Given the description of an element on the screen output the (x, y) to click on. 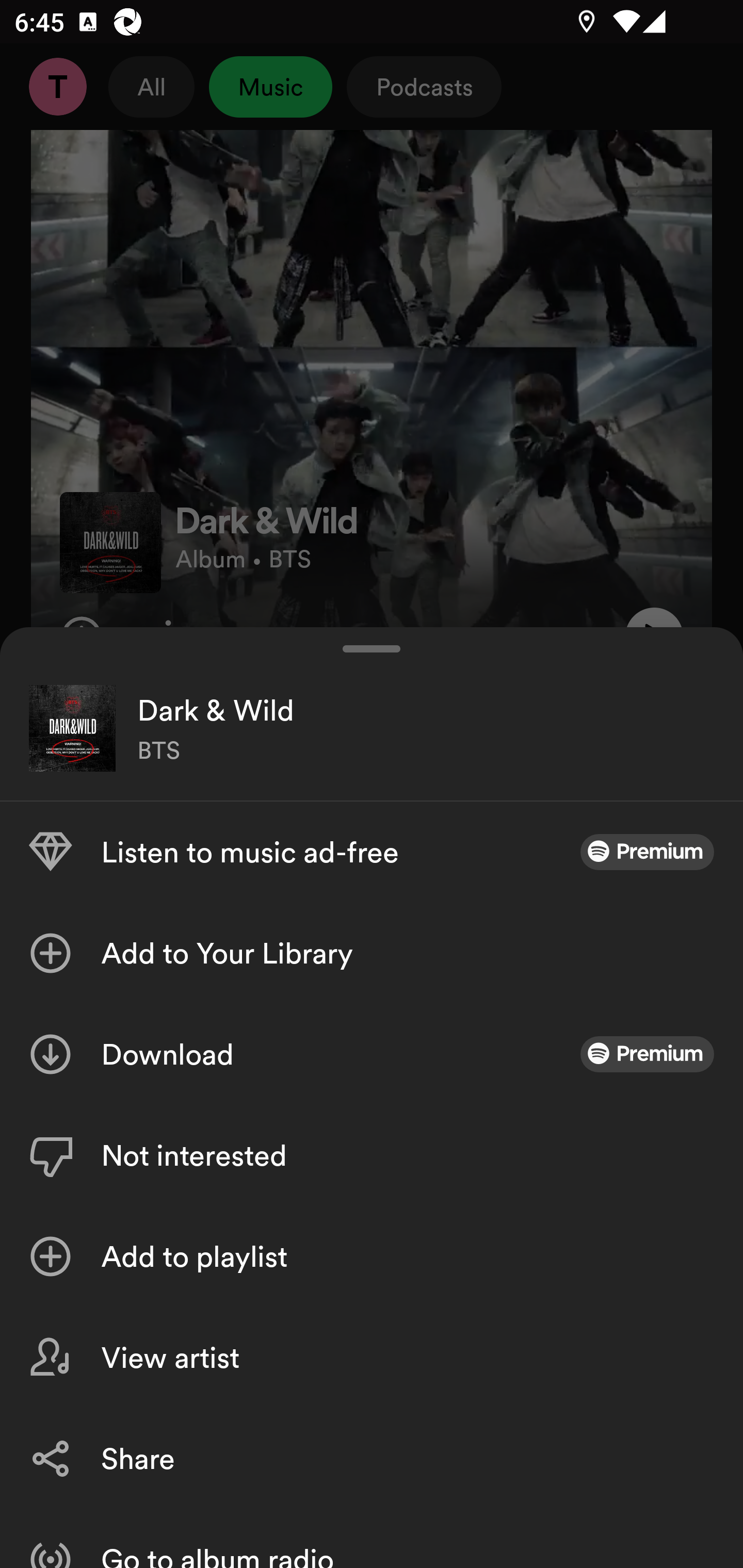
Listen to music ad-free (371, 852)
Add to Your Library (371, 953)
Download (371, 1054)
Not interested (371, 1155)
Add to playlist (371, 1256)
View artist (371, 1357)
Share (371, 1458)
Go to album radio (371, 1538)
